Given the description of an element on the screen output the (x, y) to click on. 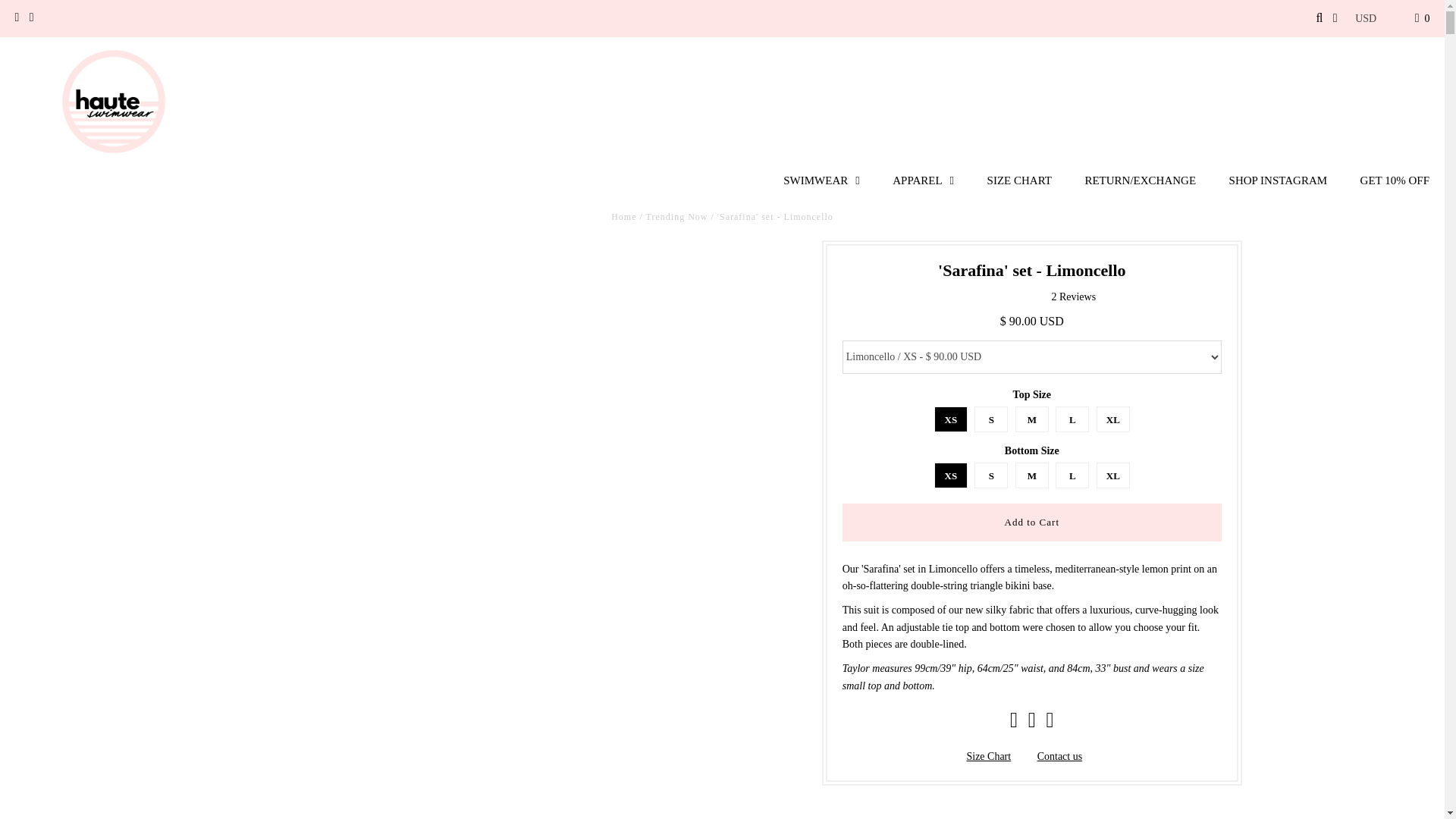
Contact us (1059, 756)
APPAREL (923, 179)
Home (623, 216)
SHOP INSTAGRAM (1278, 179)
Add to Cart (1032, 522)
  0 (1422, 18)
Add to Cart (1032, 522)
Trending Now (676, 216)
SIZE CHART (1019, 179)
SWIMWEAR (821, 179)
Size Chart (988, 756)
Home (623, 216)
